Given the description of an element on the screen output the (x, y) to click on. 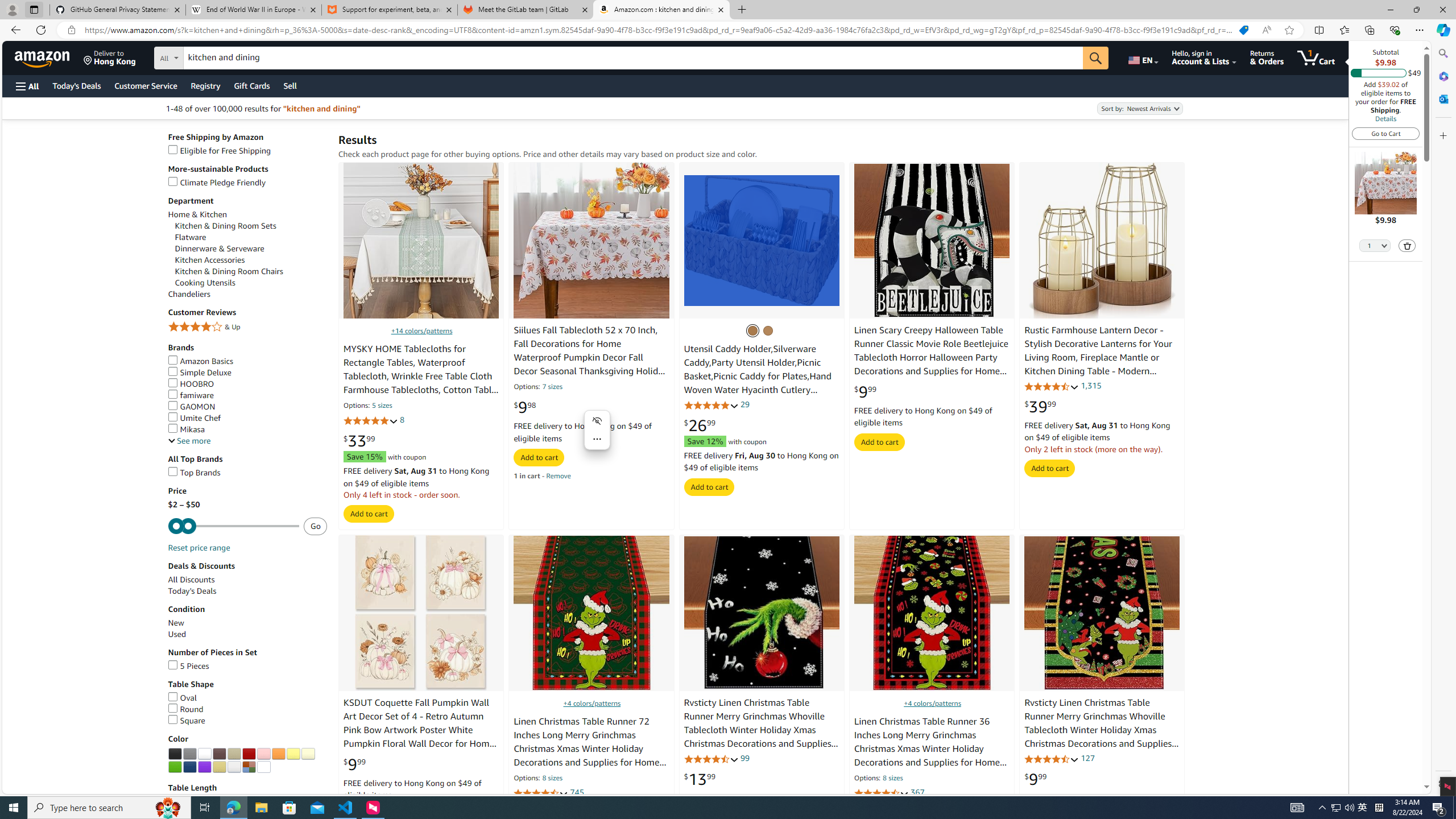
Meet the GitLab team | GitLab (525, 9)
All Discounts (191, 579)
4 Stars & Up& Up (247, 327)
AutomationID: p_n_feature_twenty_browse-bin/3254101011 (218, 753)
Gift Cards (251, 85)
GAOMON (247, 406)
Top Brands (194, 472)
New (175, 622)
Purple (204, 766)
Flatware (190, 237)
